Given the description of an element on the screen output the (x, y) to click on. 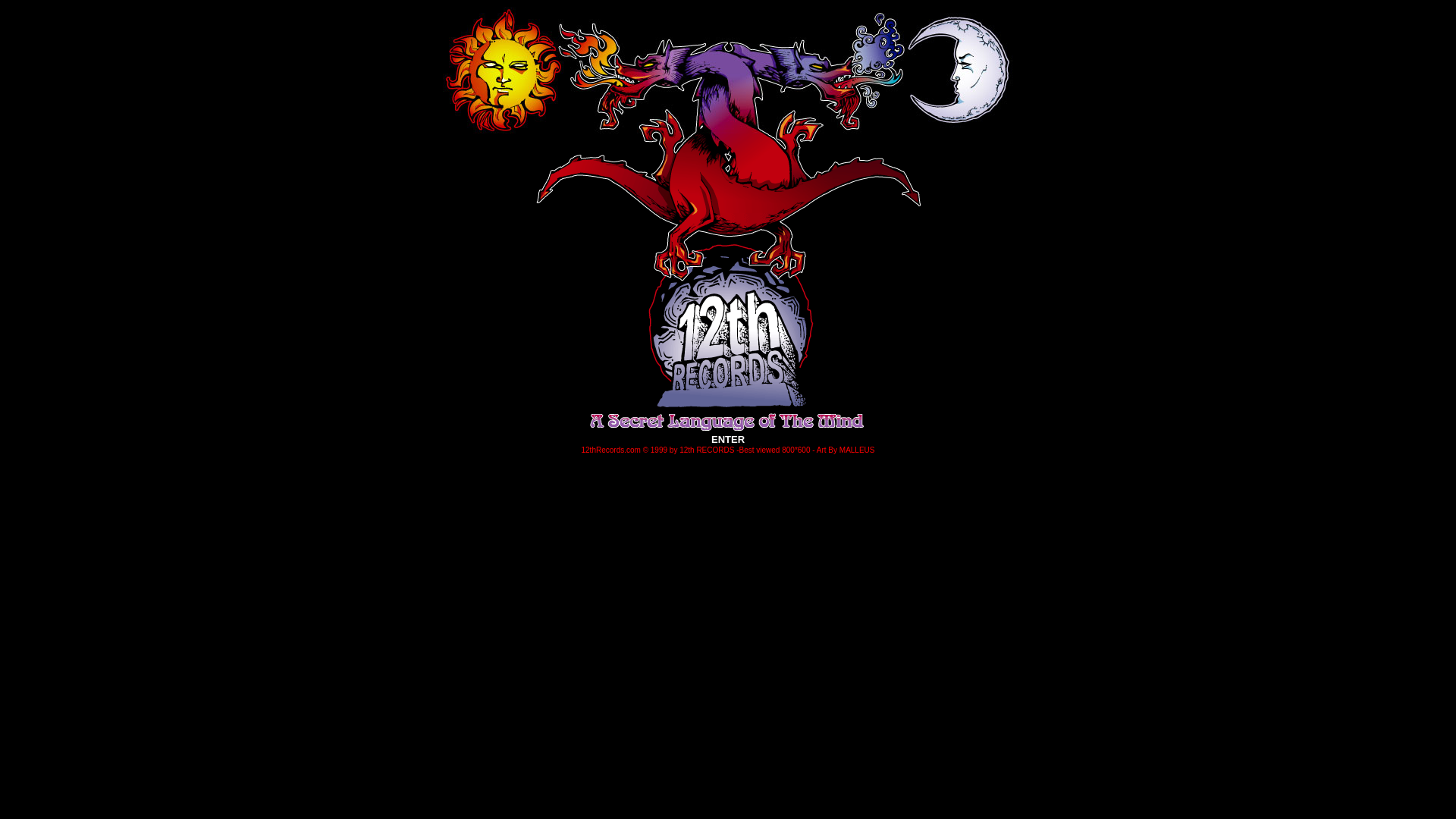
MALLEUS Element type: text (857, 447)
ENTER Element type: text (727, 439)
